Given the description of an element on the screen output the (x, y) to click on. 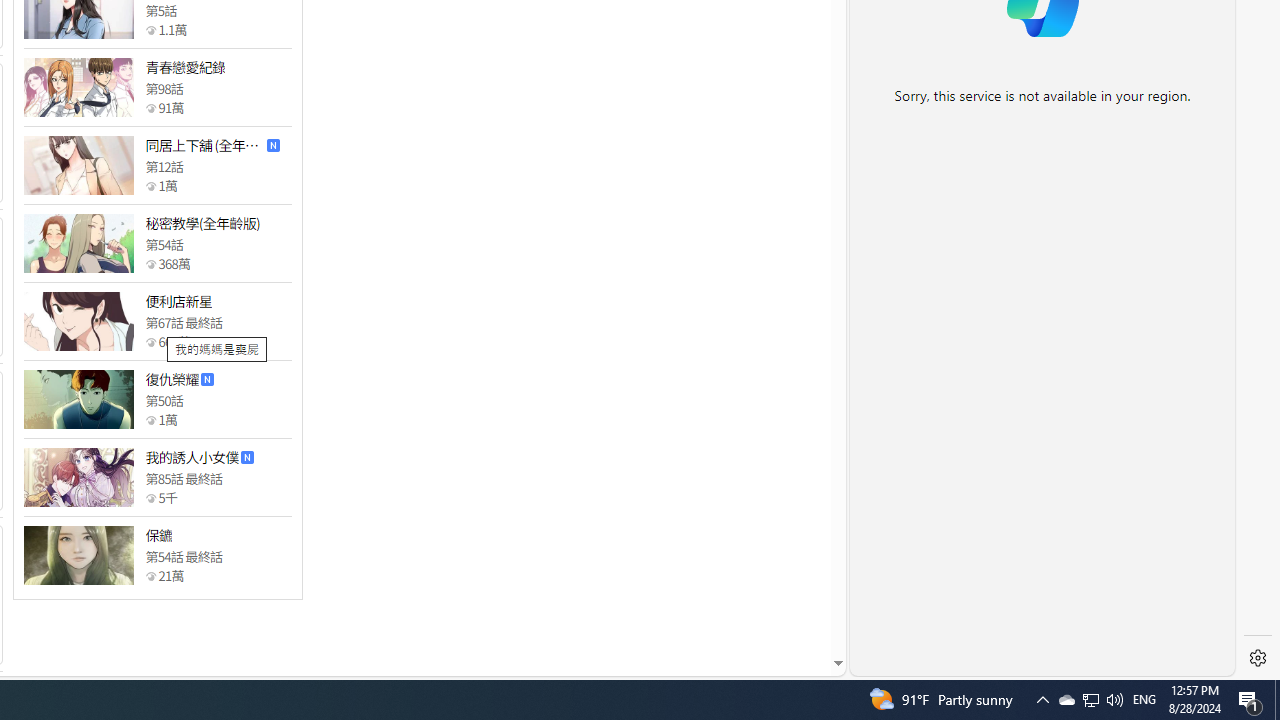
Class: thumb_img (78, 555)
Settings (1258, 658)
